Given the description of an element on the screen output the (x, y) to click on. 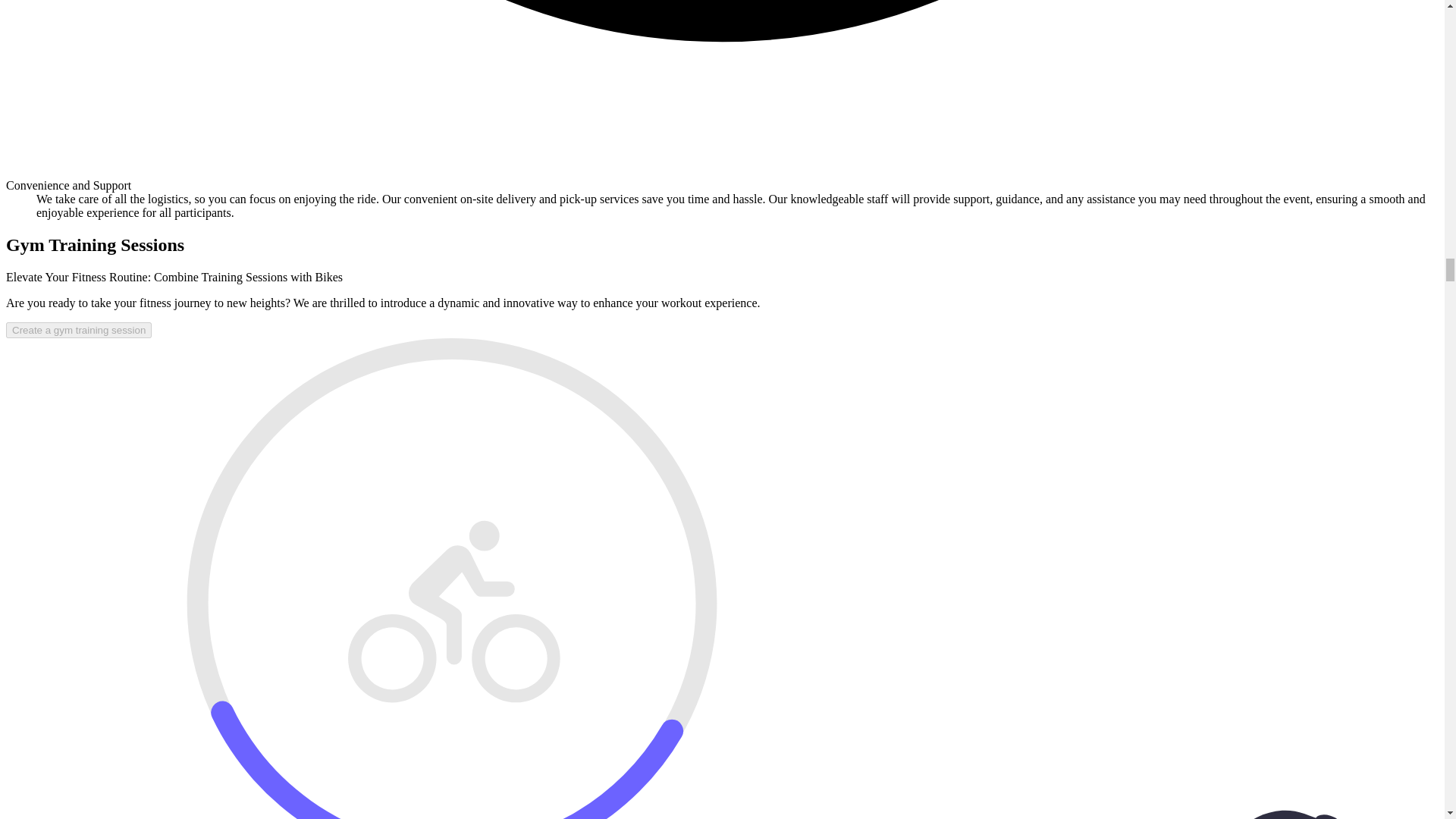
Create a gym training session (78, 330)
